Given the description of an element on the screen output the (x, y) to click on. 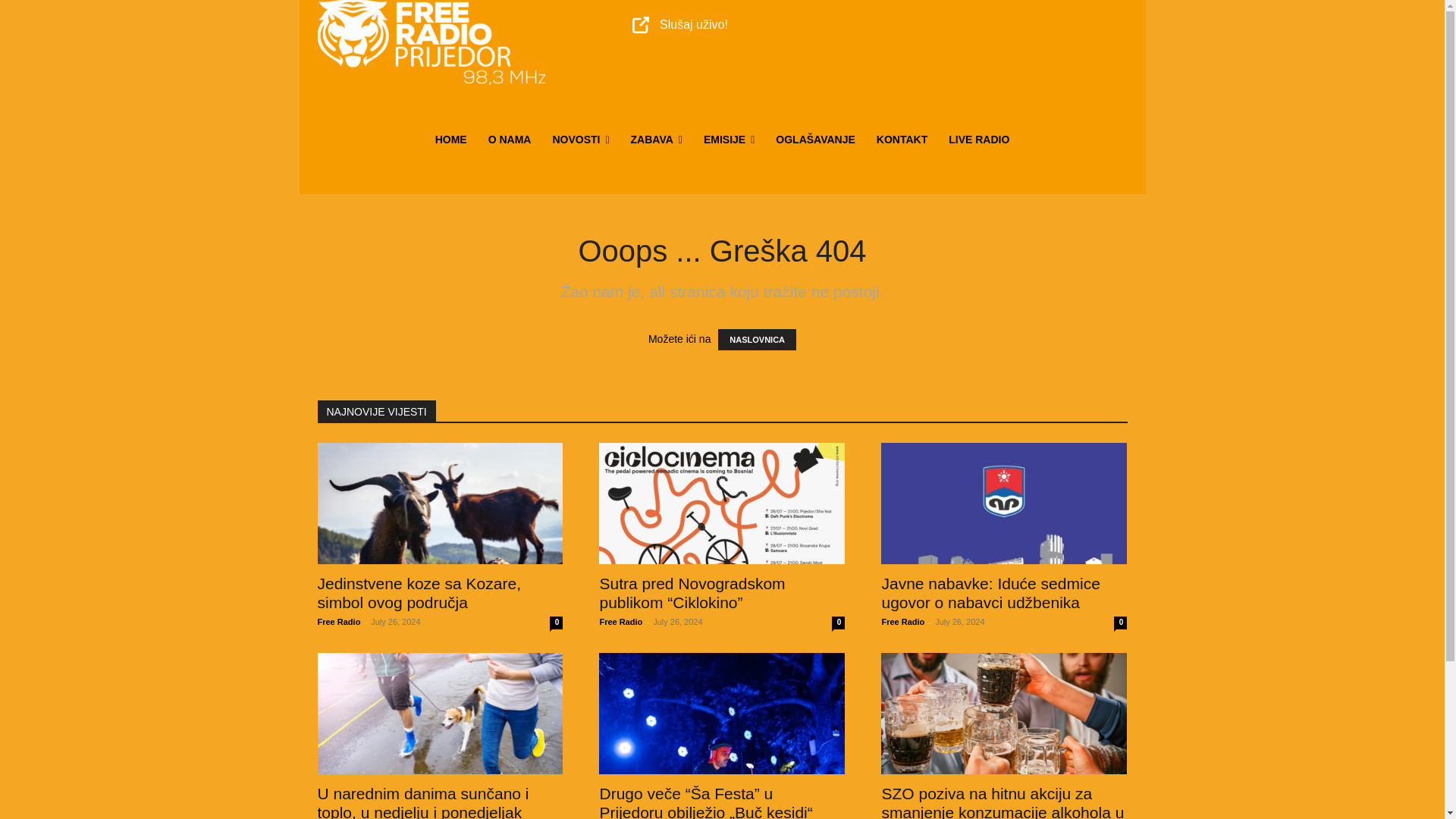
EMISIJE (729, 139)
NASLOVNICA (756, 339)
ZABAVA (656, 139)
KONTAKT (901, 139)
O NAMA (509, 139)
NOVOSTI (580, 139)
LIVE RADIO (978, 139)
HOME (451, 139)
